Given the description of an element on the screen output the (x, y) to click on. 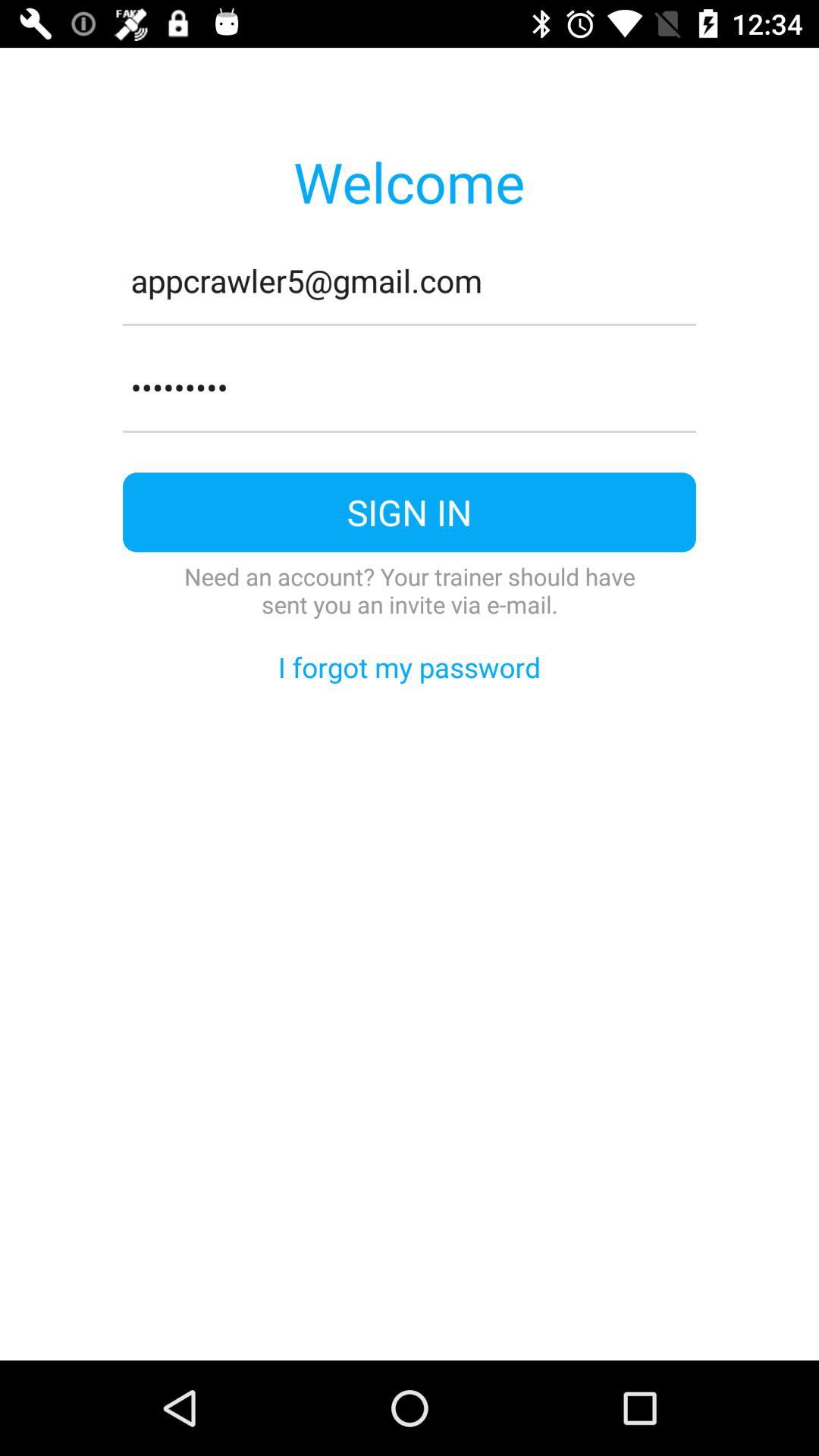
open item above the need an account icon (409, 512)
